Given the description of an element on the screen output the (x, y) to click on. 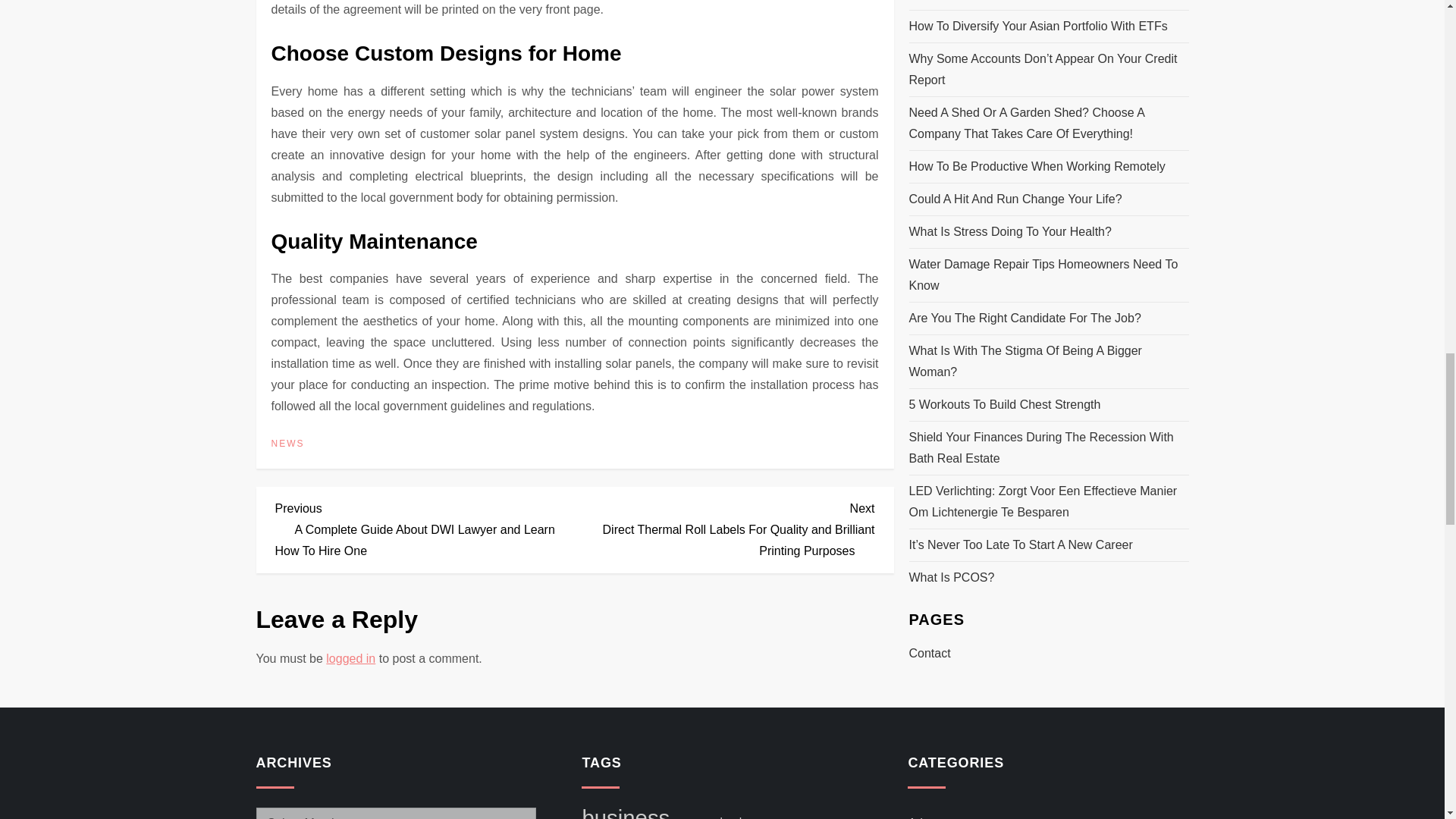
logged in (350, 658)
NEWS (287, 444)
business (624, 812)
